Given the description of an element on the screen output the (x, y) to click on. 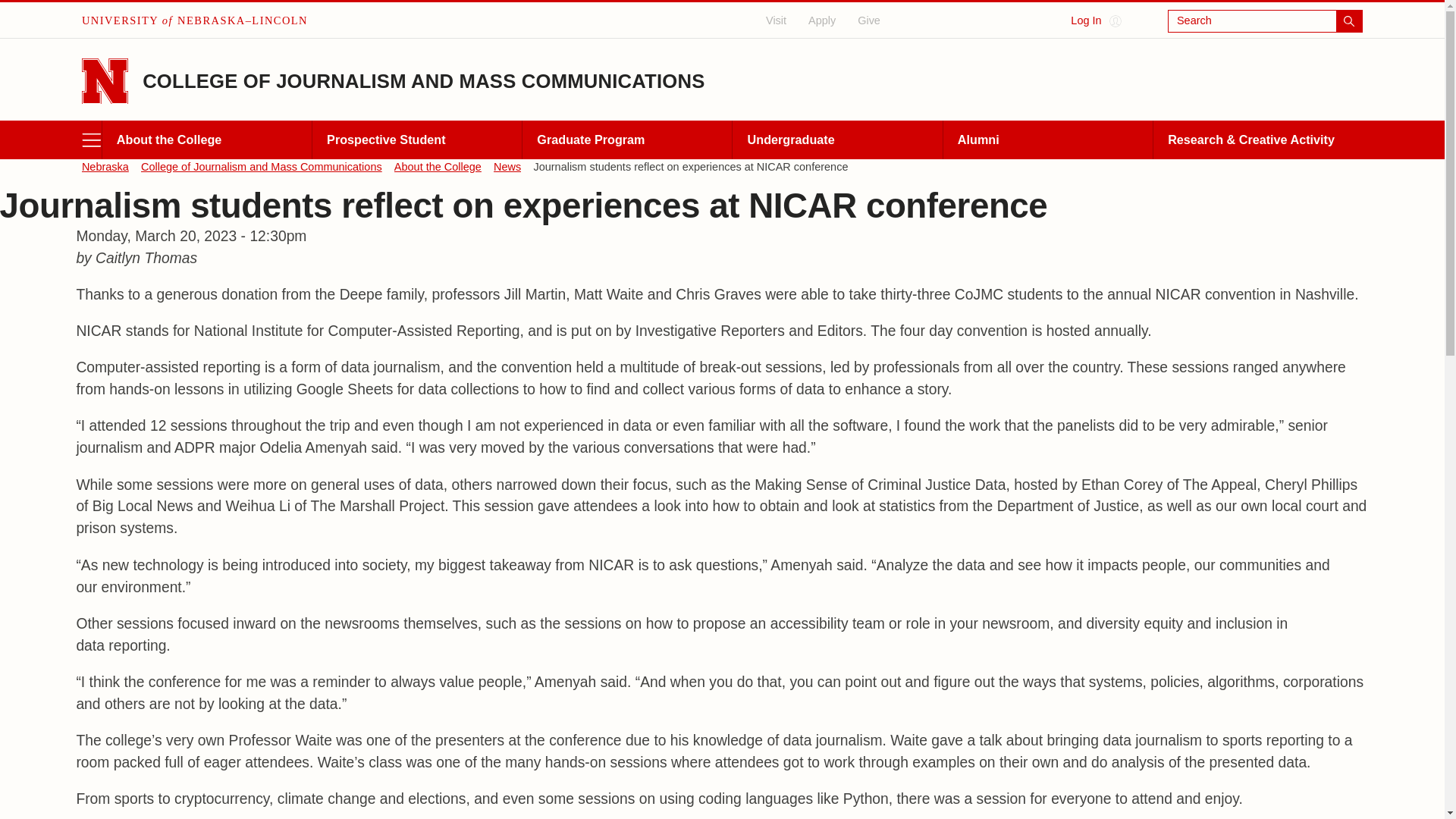
Give (869, 20)
Log In (1095, 21)
Search (1264, 21)
COLLEGE OF JOURNALISM AND MASS COMMUNICATIONS (423, 79)
About the College (206, 139)
Apply (822, 20)
Skip to main content (13, 10)
Prospective Student (416, 139)
Visit (776, 20)
